Given the description of an element on the screen output the (x, y) to click on. 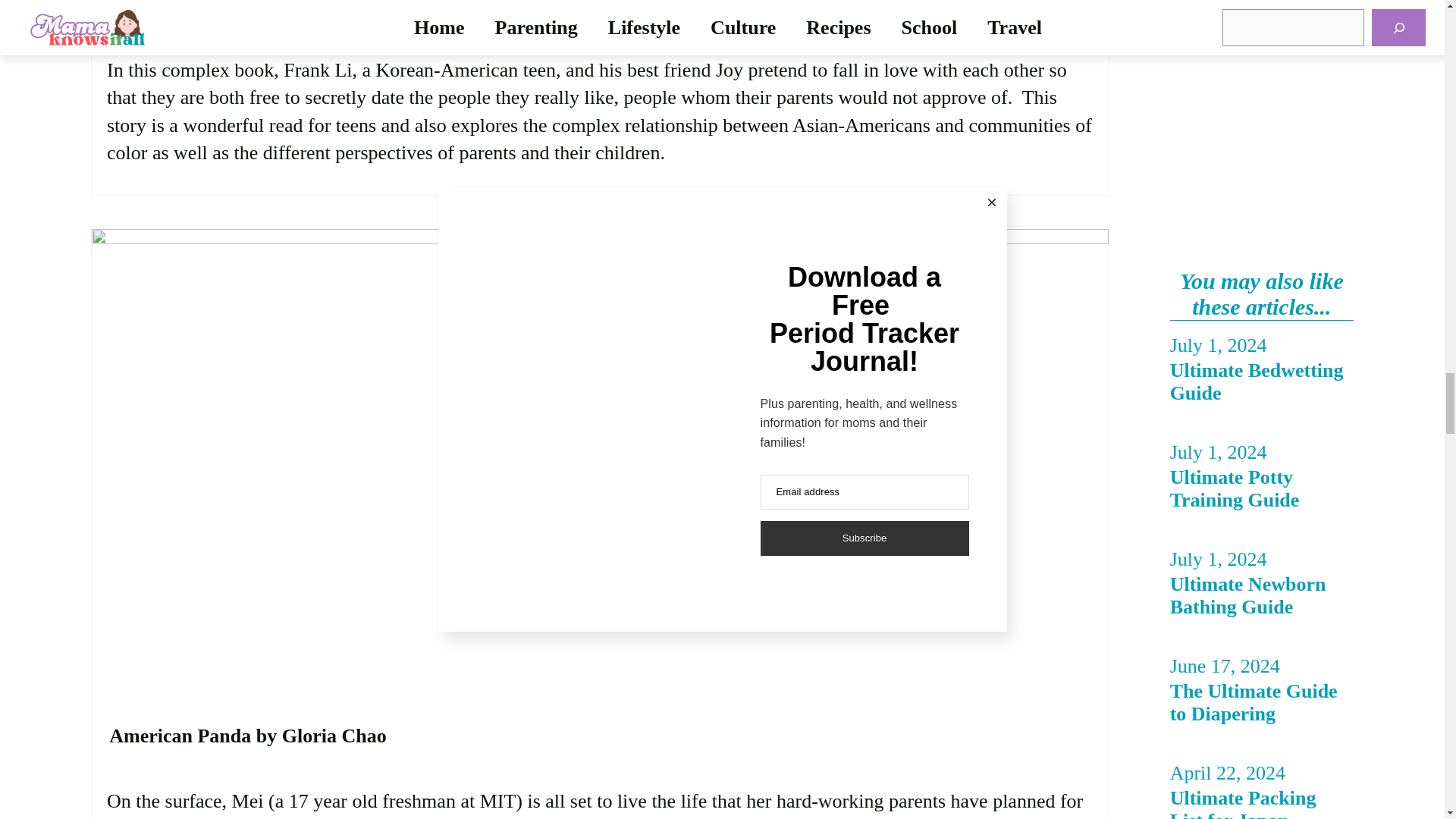
American Panda by Gloria Chao (247, 735)
Frankly in Love by David Yoo (235, 8)
